Given the description of an element on the screen output the (x, y) to click on. 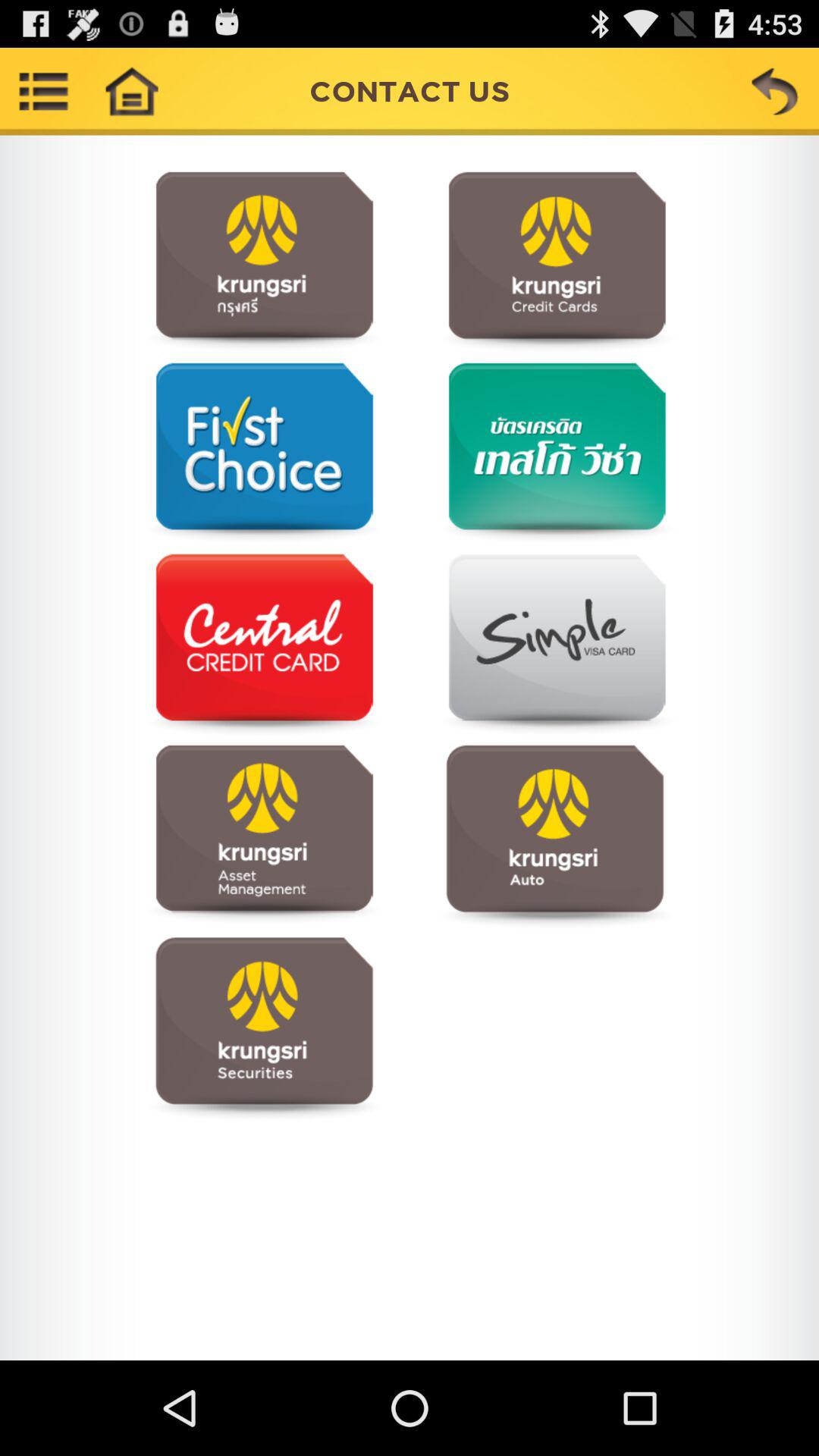
select contact choice (263, 1026)
